Given the description of an element on the screen output the (x, y) to click on. 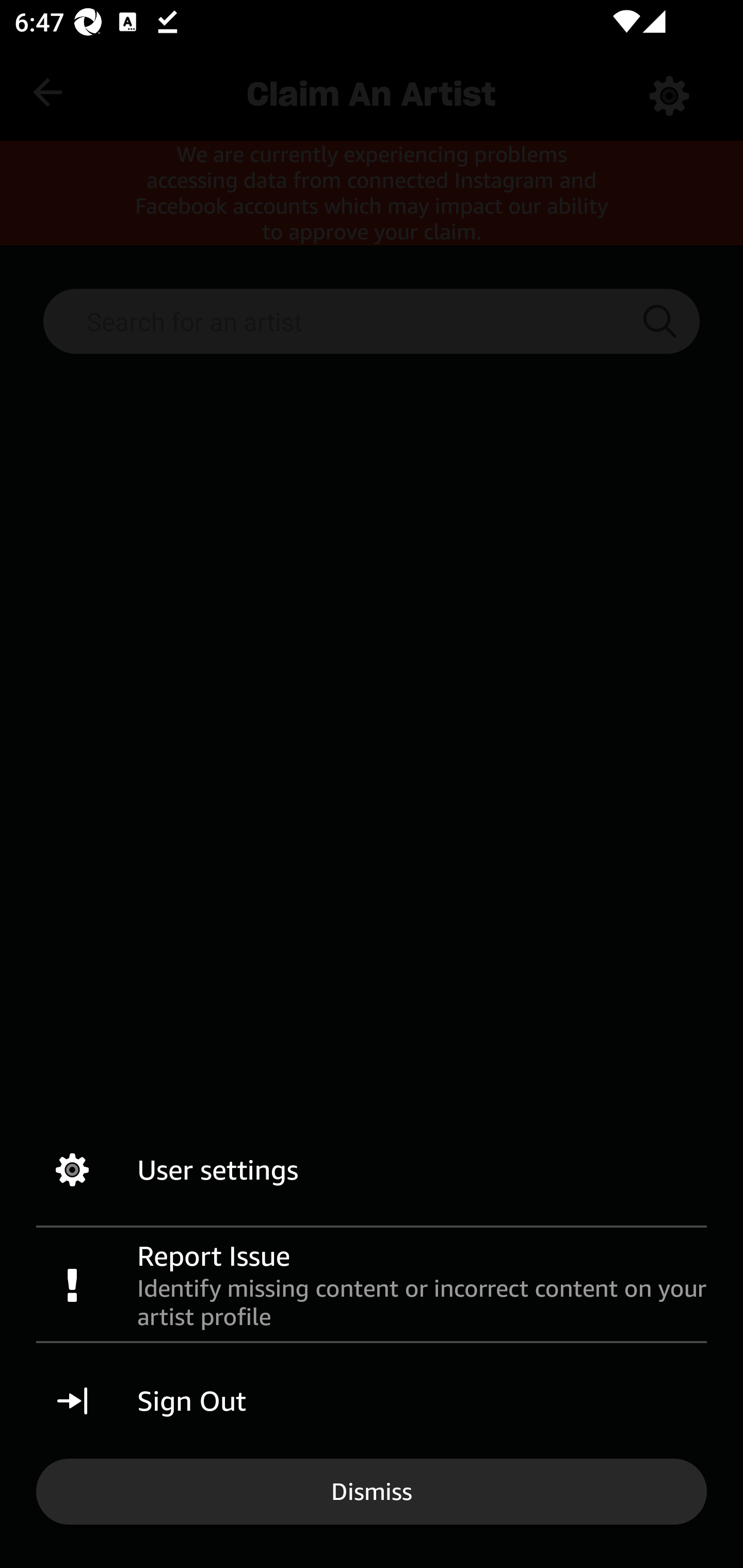
User settings  icon User settings User settings (371, 1169)
Sign Out  icon Sign Out Sign Out (371, 1400)
Dismiss button Dismiss (371, 1491)
